Given the description of an element on the screen output the (x, y) to click on. 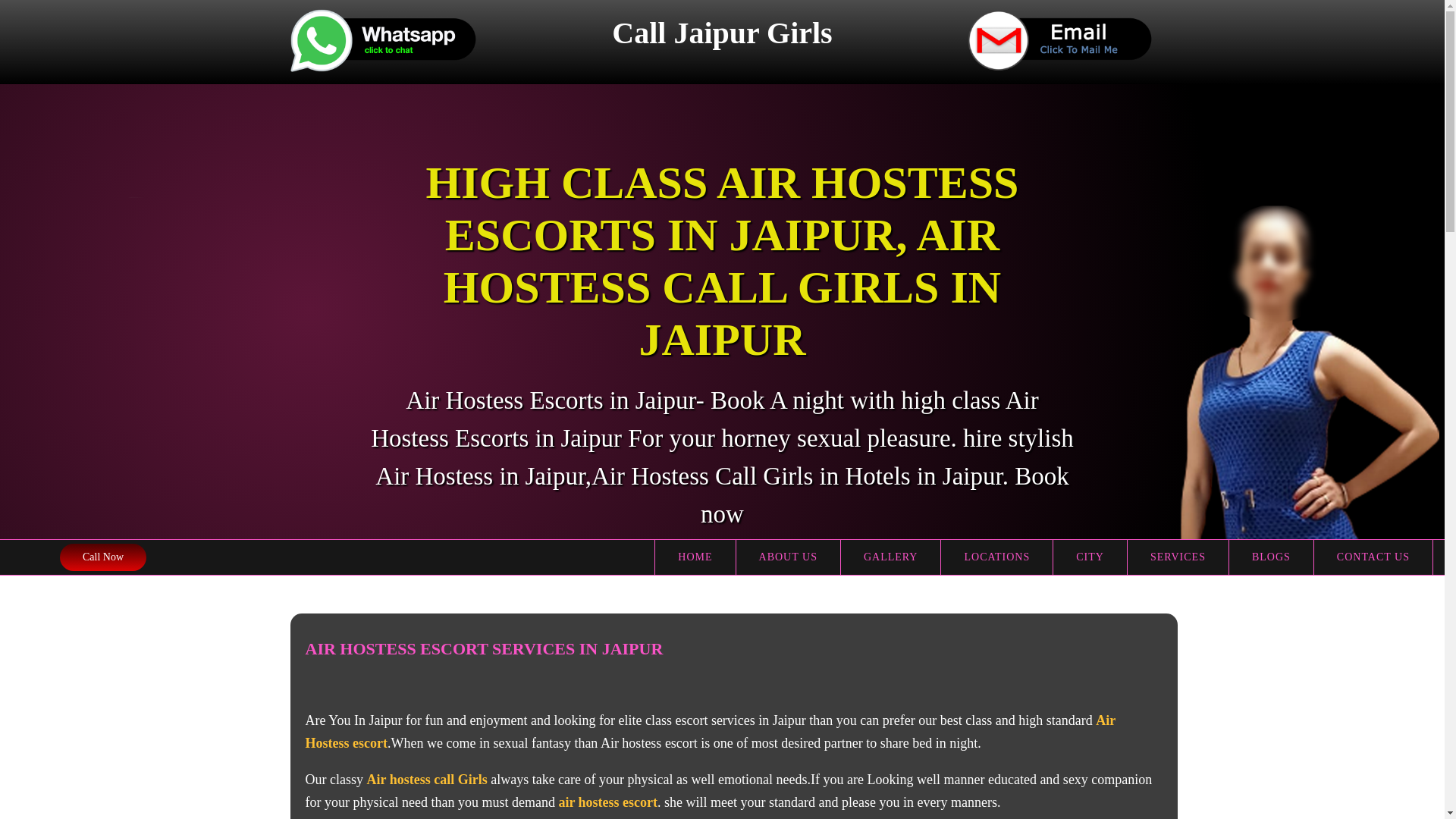
CITY (1089, 556)
Call Jaipur Girls (722, 32)
ABOUT US (788, 556)
BLOGS (1271, 556)
Call Now (103, 556)
CONTACT US (1373, 556)
GALLERY (891, 556)
HOME (694, 556)
SERVICES (1177, 556)
LOCATIONS (996, 556)
